Given the description of an element on the screen output the (x, y) to click on. 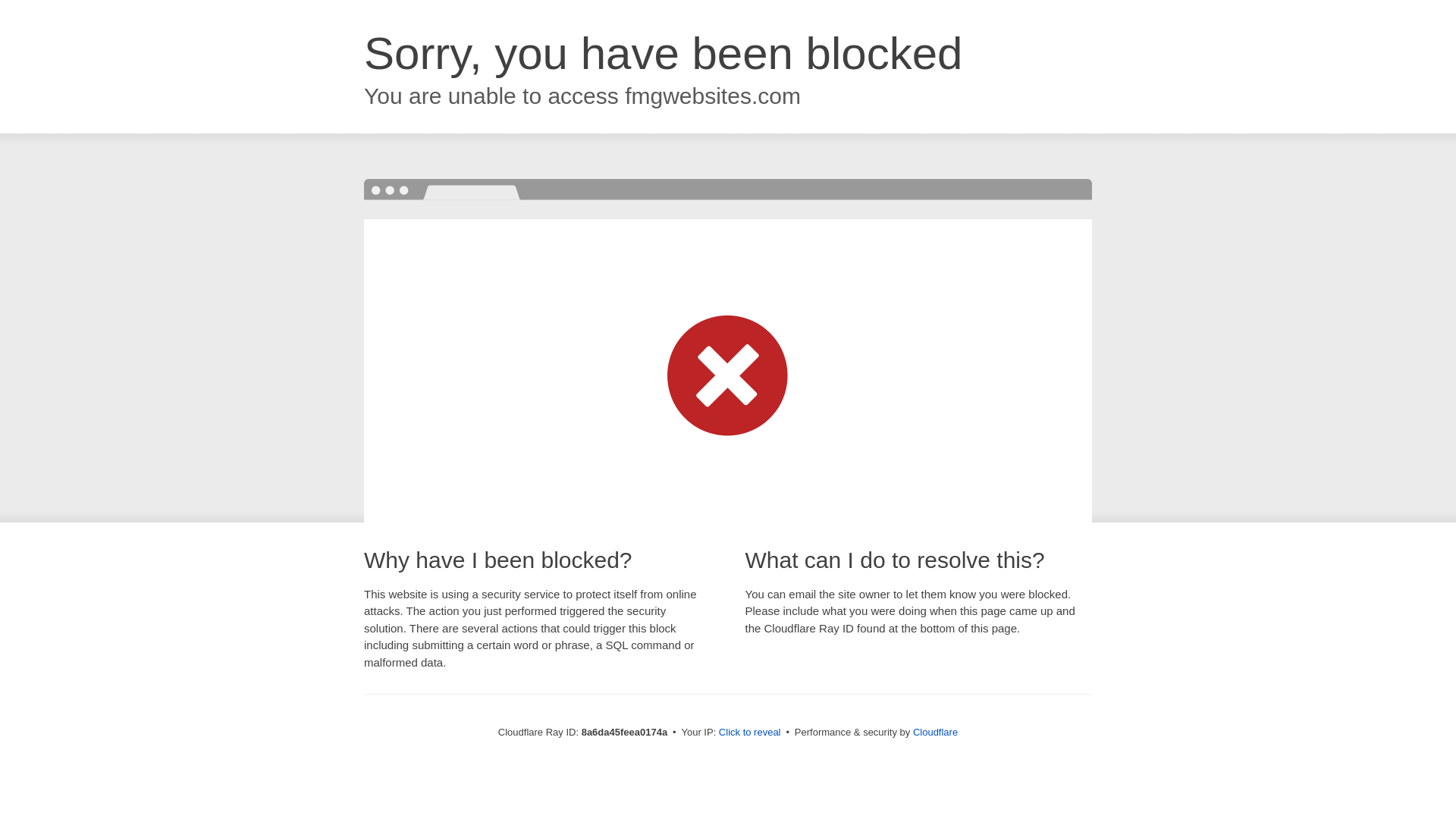
Cloudflare (935, 731)
Click to reveal (749, 732)
